Given the description of an element on the screen output the (x, y) to click on. 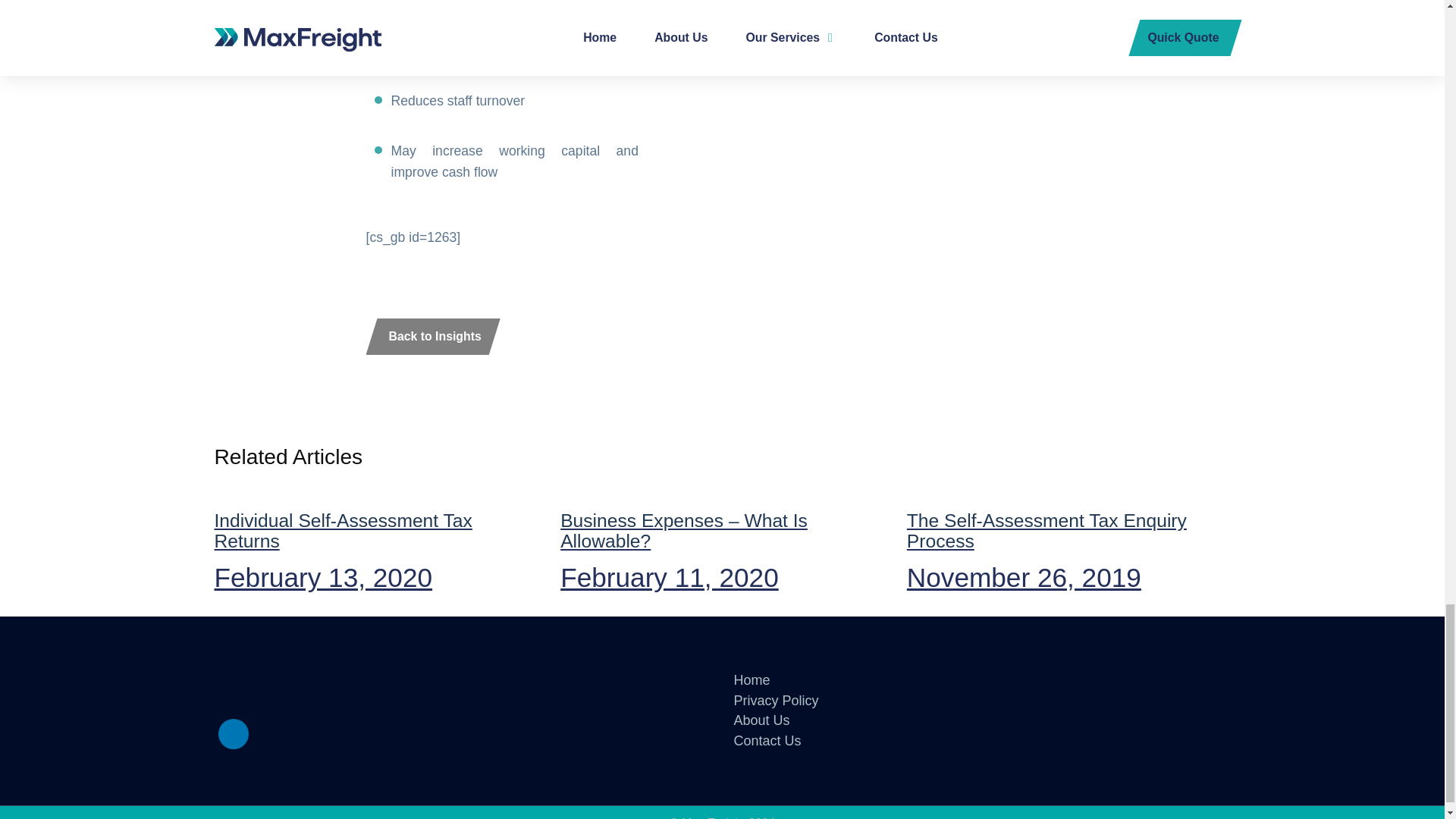
Back to Insights (432, 336)
About Us (761, 720)
Home (375, 536)
Max Freight LinkedIn (751, 679)
Contact Us (233, 734)
Privacy Policy (767, 740)
